Given the description of an element on the screen output the (x, y) to click on. 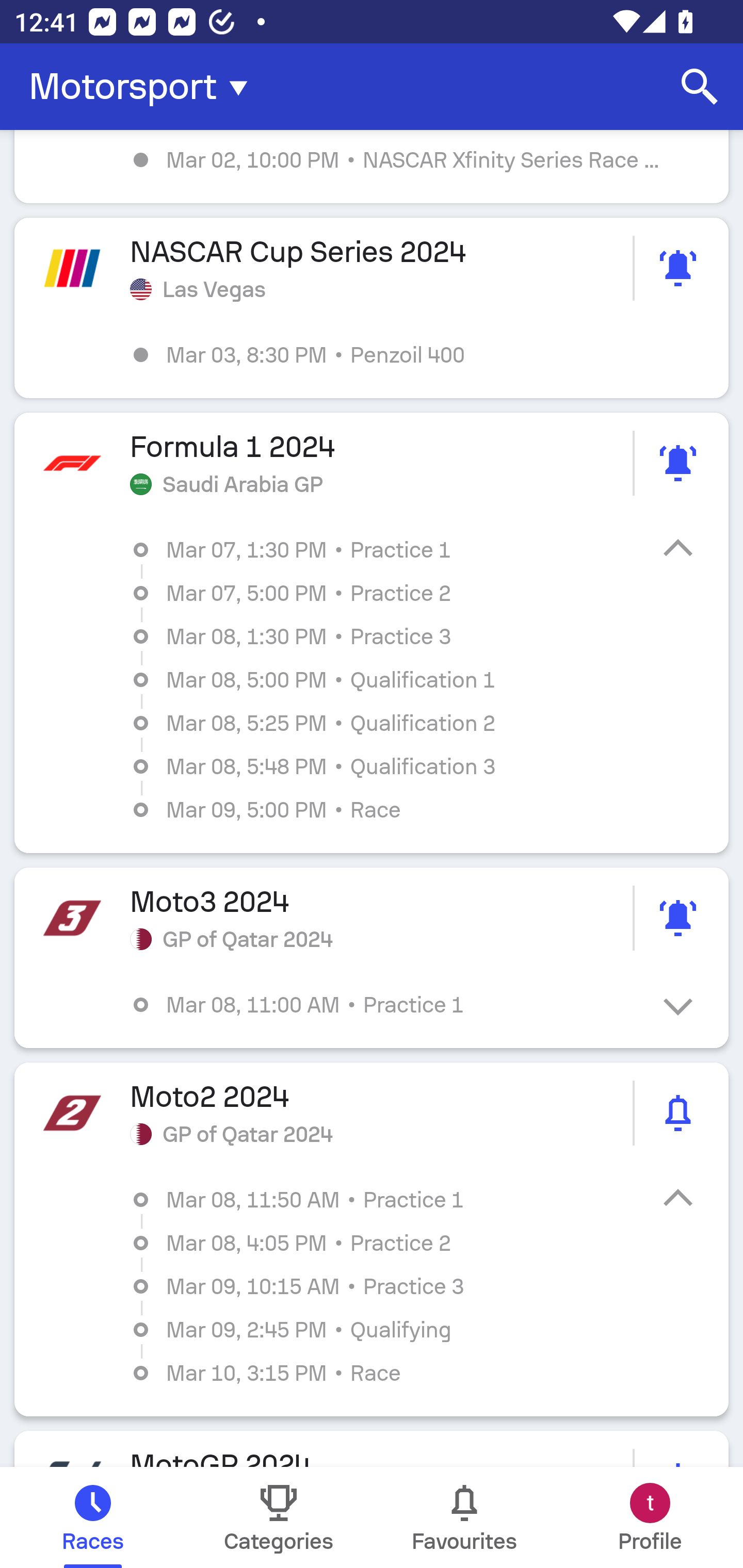
Motorsport (144, 86)
Search (699, 86)
Mar 08, 11:00 AM • Practice 1 (385, 1004)
Categories (278, 1517)
Favourites (464, 1517)
Profile (650, 1517)
